Given the description of an element on the screen output the (x, y) to click on. 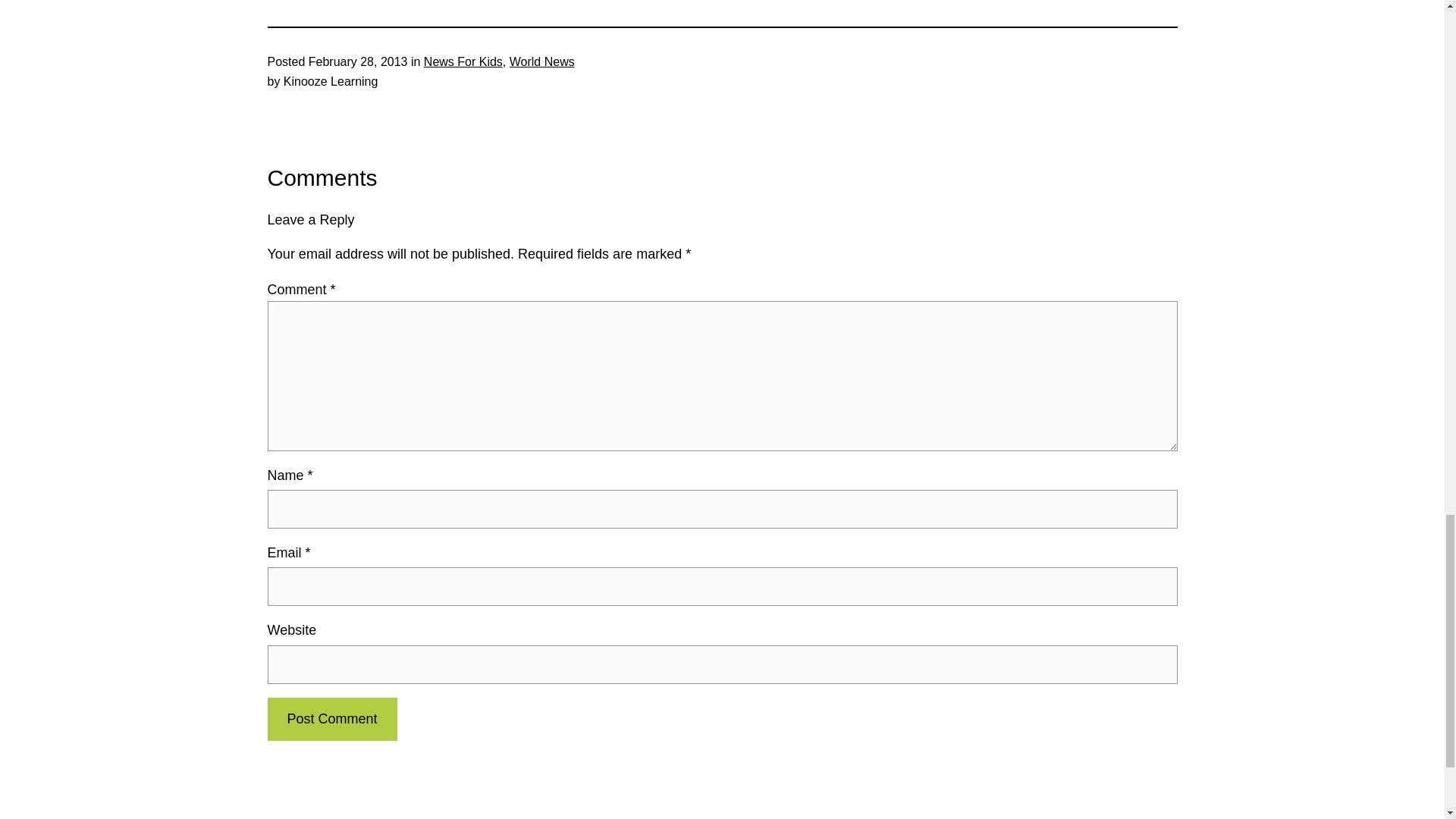
World News (542, 61)
Post Comment (331, 719)
News For Kids (462, 61)
Post Comment (331, 719)
